Given the description of an element on the screen output the (x, y) to click on. 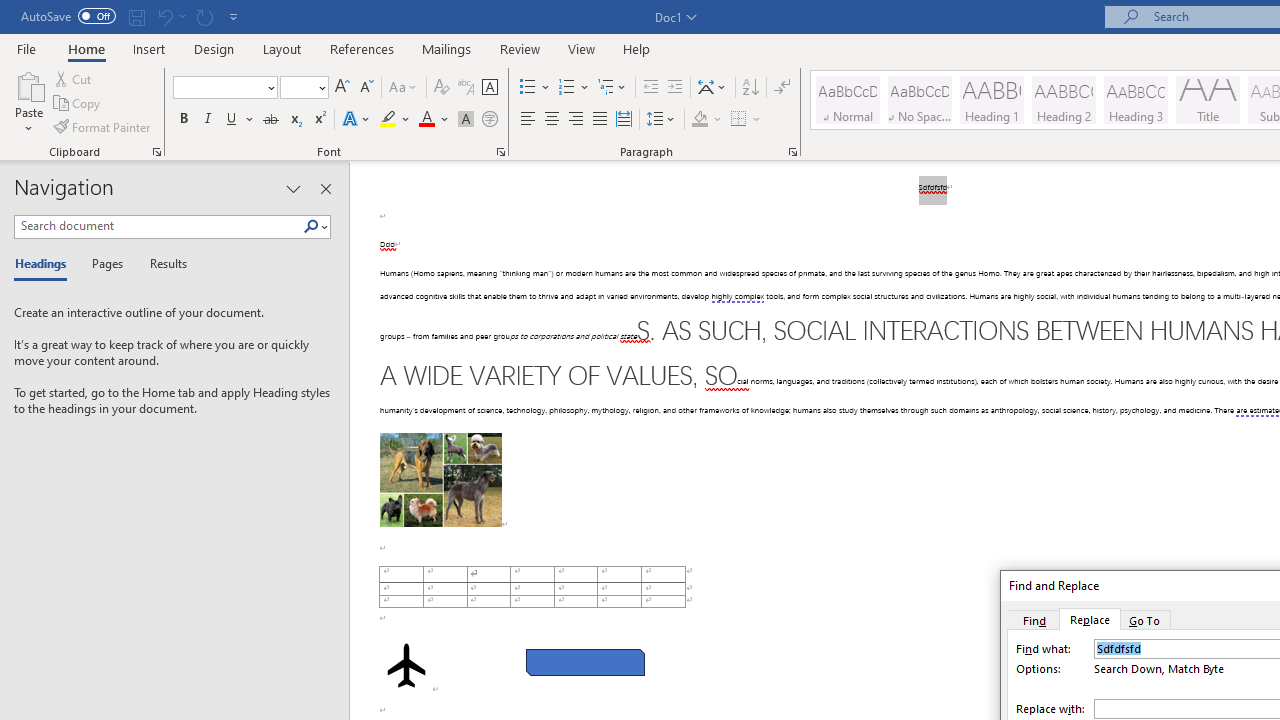
Text Effects and Typography (357, 119)
Rectangle: Diagonal Corners Snipped 2 (585, 662)
Clear Formatting (442, 87)
